Given the description of an element on the screen output the (x, y) to click on. 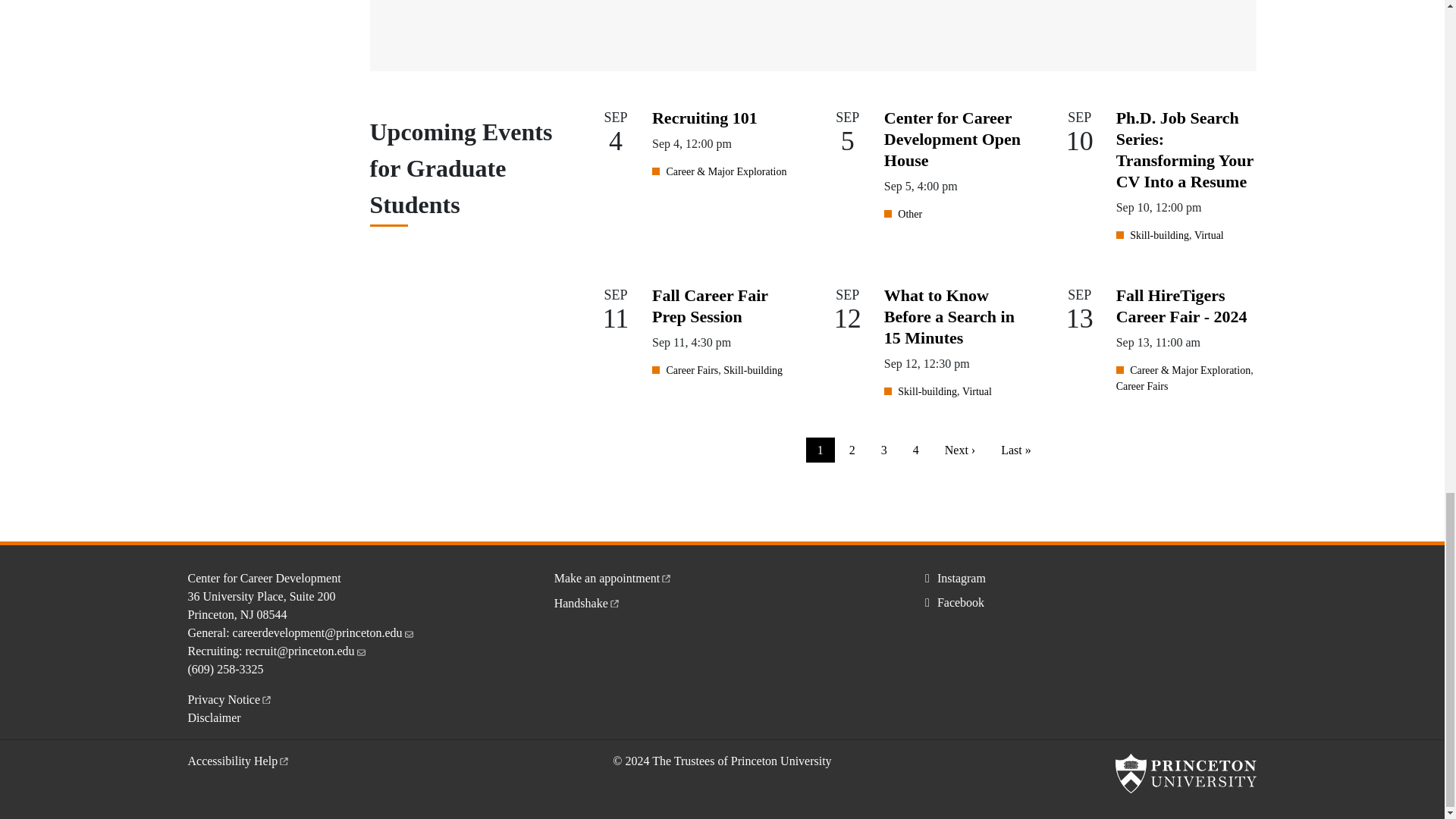
Link is external (665, 576)
Go to page 3 (883, 449)
Go to page 4 (915, 449)
Instagram (952, 577)
Link sends email (360, 649)
Facebook (952, 602)
Go to last page (1016, 449)
Current page (820, 449)
Link is external (283, 759)
Link is external (614, 601)
